Given the description of an element on the screen output the (x, y) to click on. 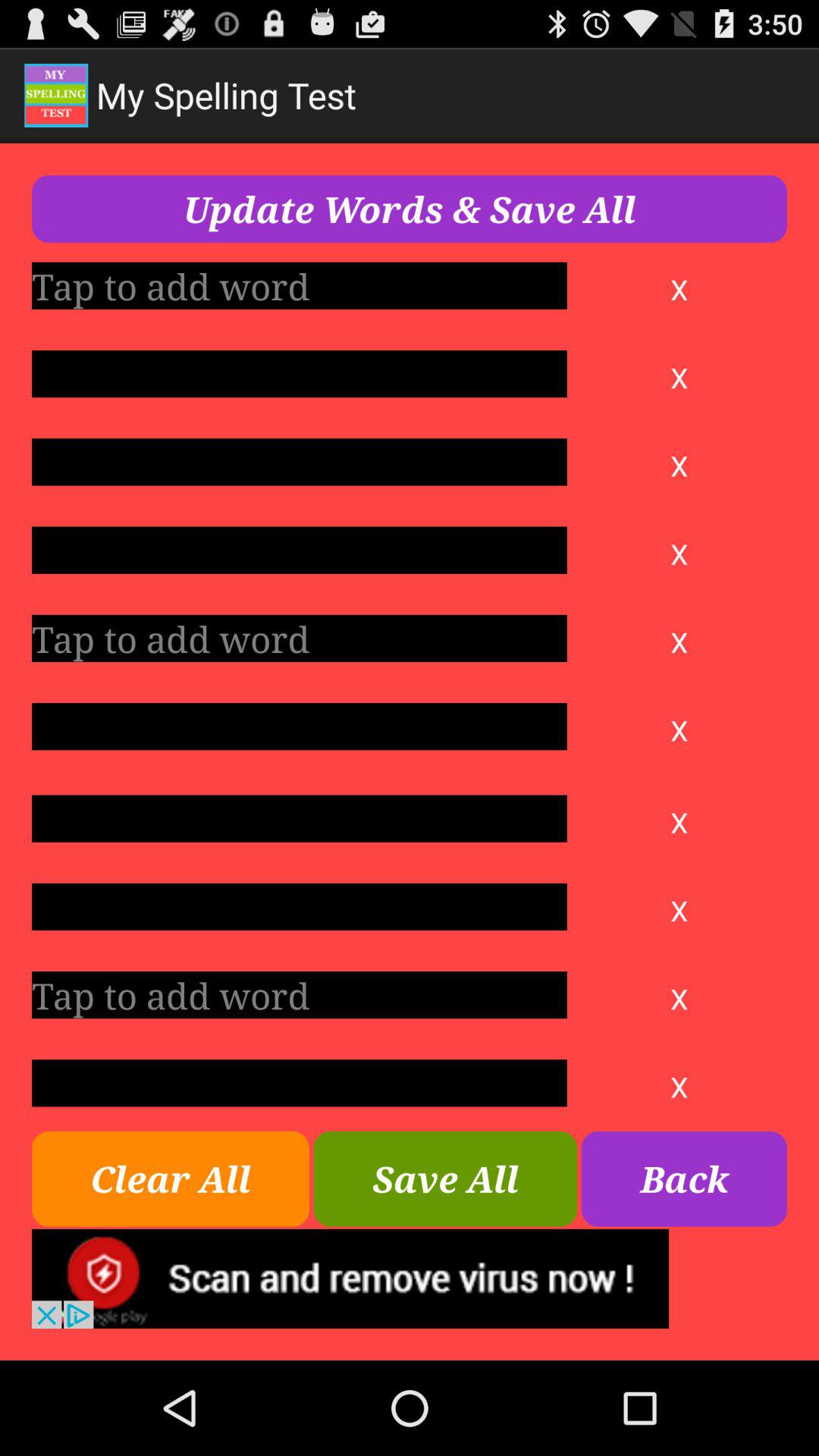
go to search box (299, 549)
